Given the description of an element on the screen output the (x, y) to click on. 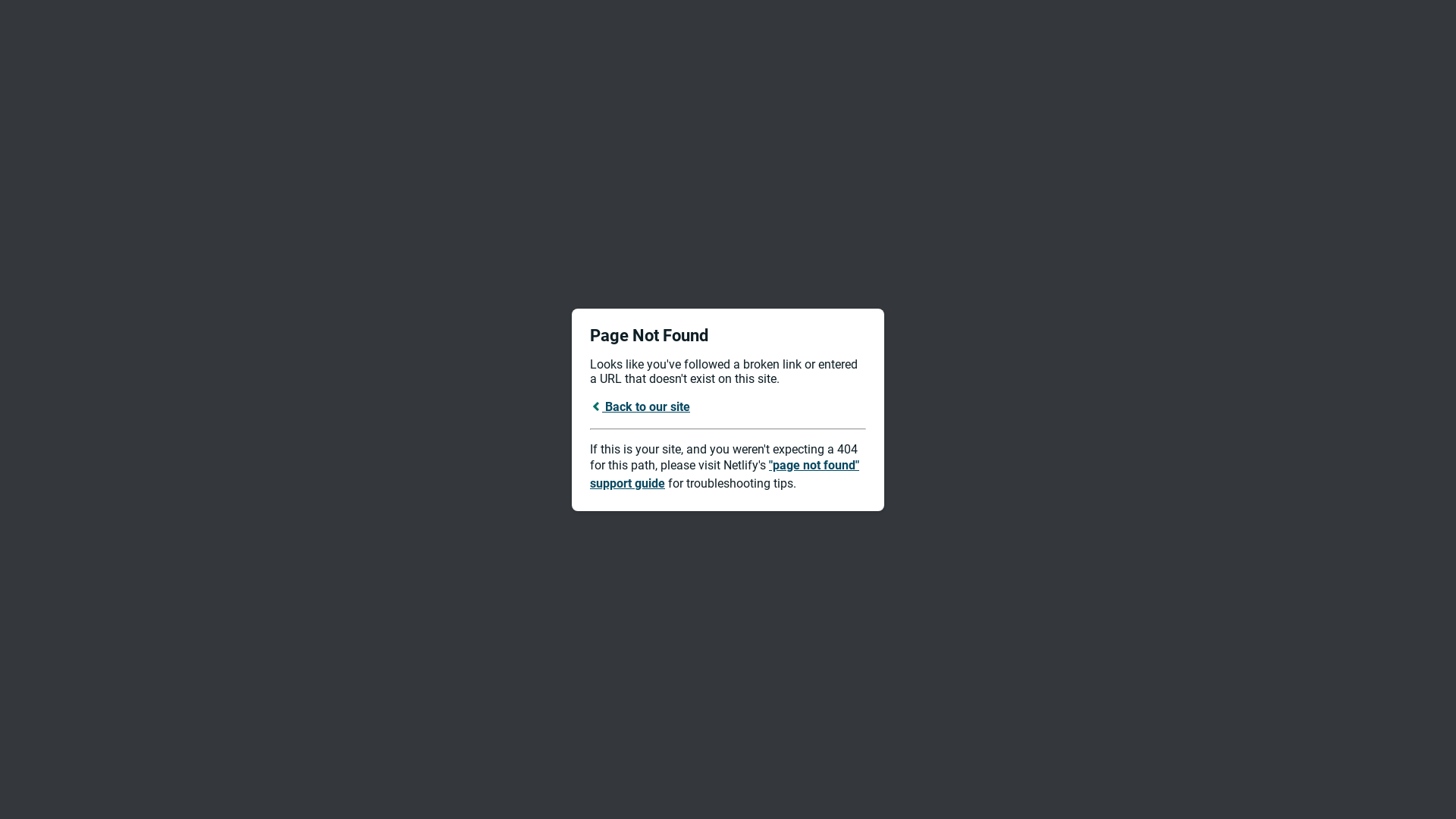
"page not found" support guide Element type: text (724, 474)
Back to our site Element type: text (639, 405)
